Given the description of an element on the screen output the (x, y) to click on. 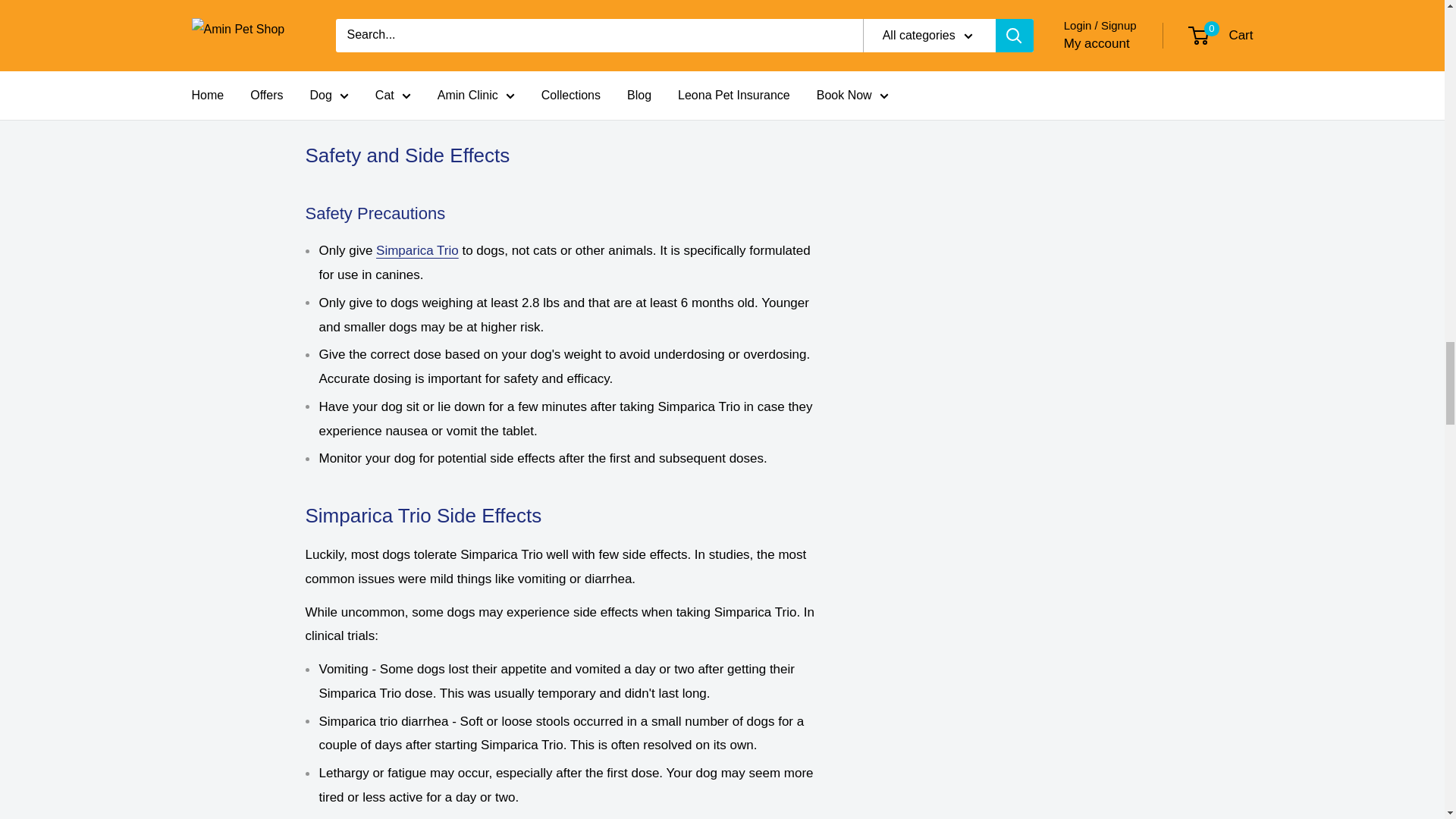
Products of "Simparica Trio" (416, 250)
